Given the description of an element on the screen output the (x, y) to click on. 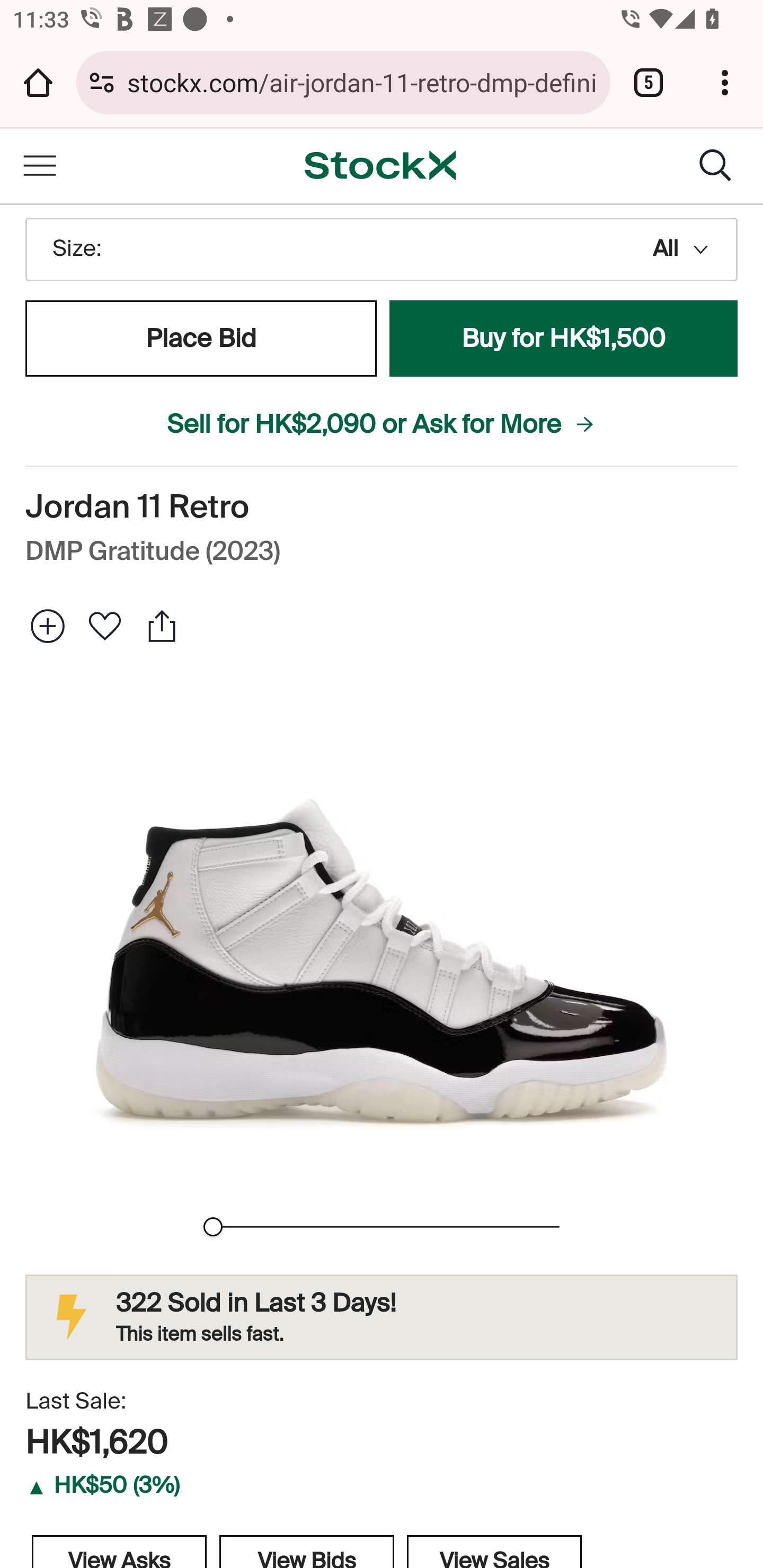
Open the home page (38, 82)
Connection is secure (101, 82)
Switch or close tabs (648, 82)
Customize and control Google Chrome (724, 82)
